Given the description of an element on the screen output the (x, y) to click on. 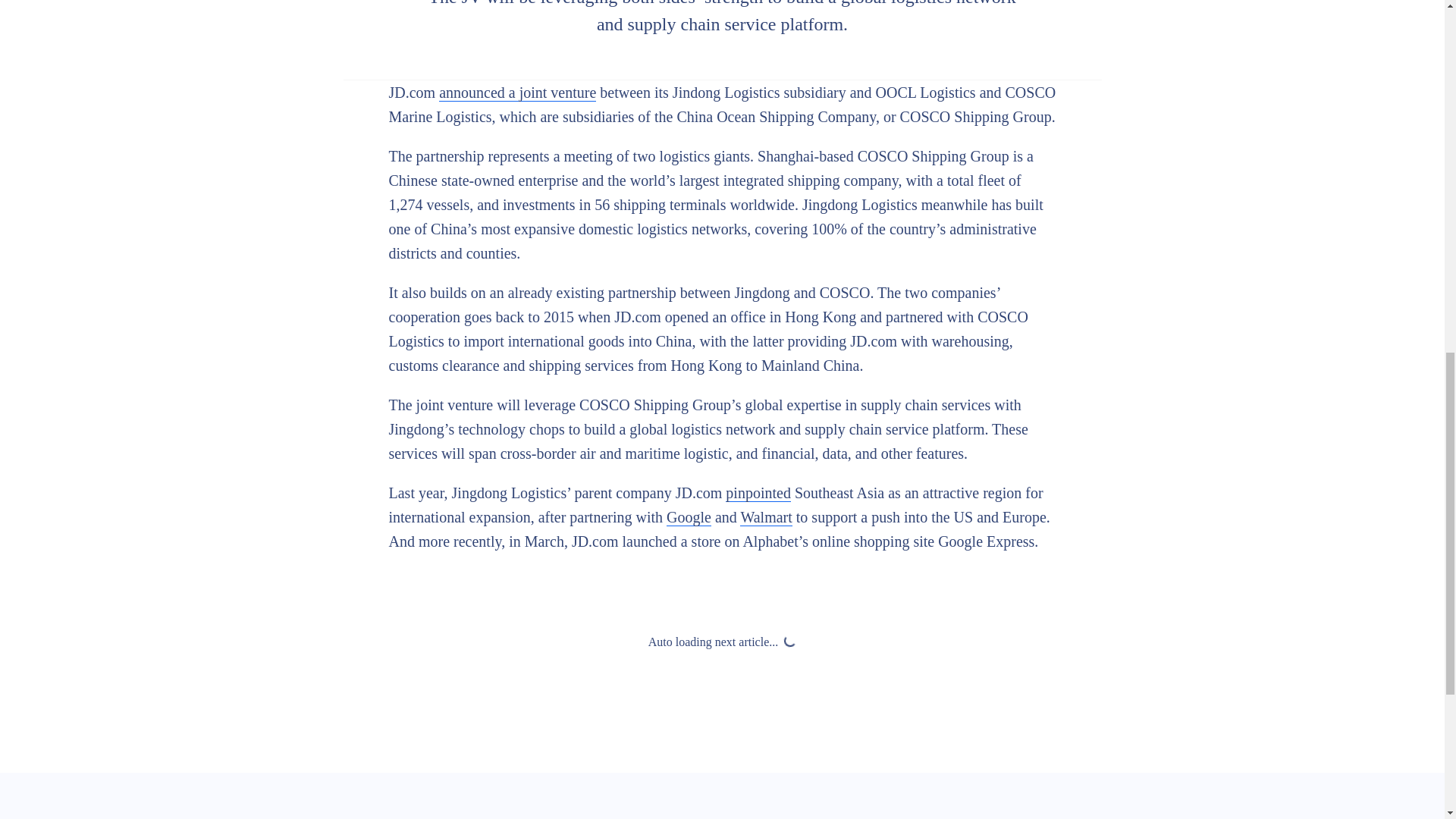
Google (688, 517)
pinpointed (757, 493)
Walmart (765, 517)
announced a joint venture (517, 92)
